Given the description of an element on the screen output the (x, y) to click on. 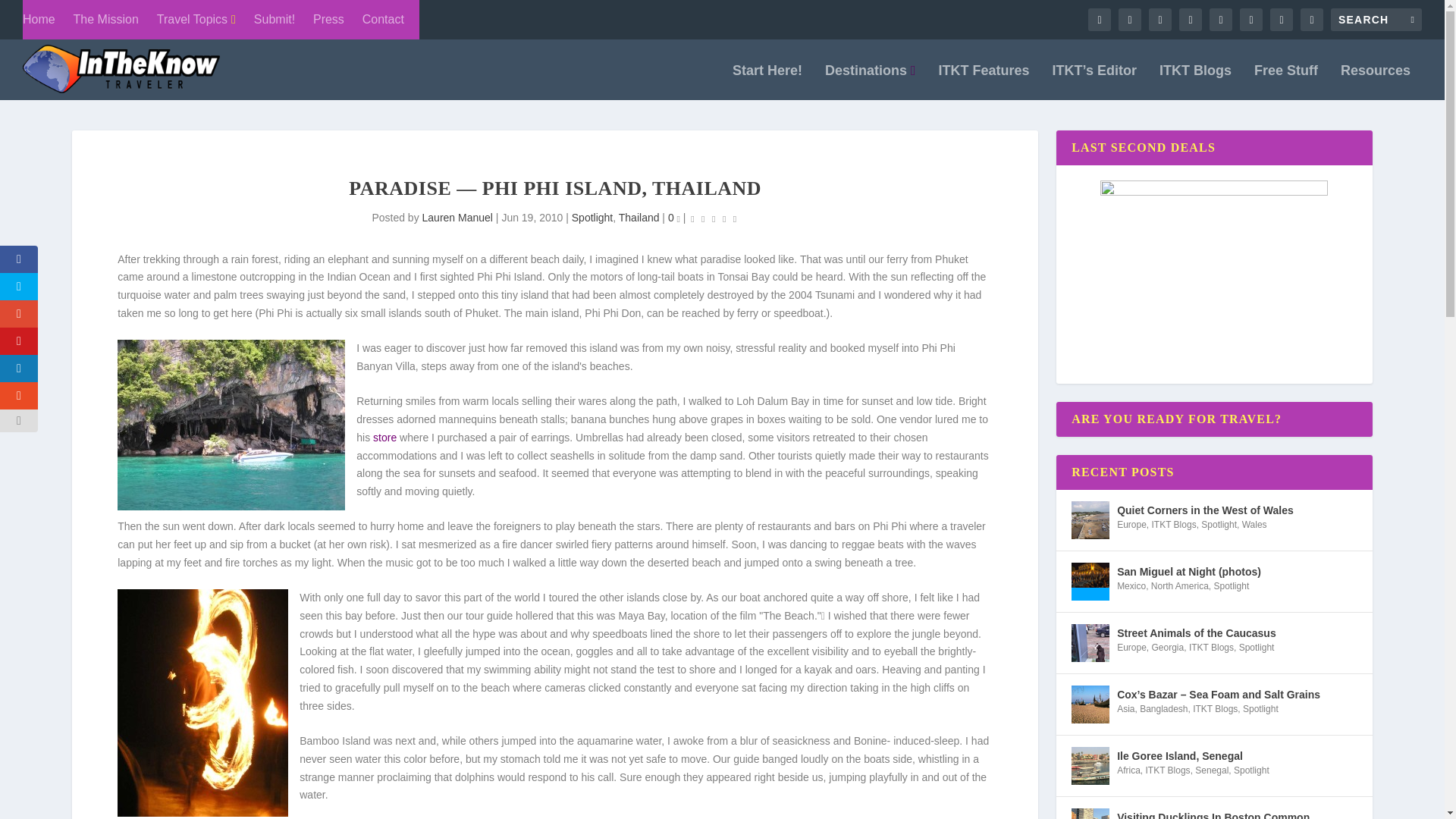
Submit! (274, 19)
Start Here! (767, 81)
Travel Topics (196, 19)
Search for: (1376, 19)
Destinations (870, 81)
The Mission (106, 19)
phi-phi-LM-800 (231, 424)
Posts by Lauren Manuel (457, 217)
Rating: 0.00 (713, 218)
Contact (383, 19)
